Given the description of an element on the screen output the (x, y) to click on. 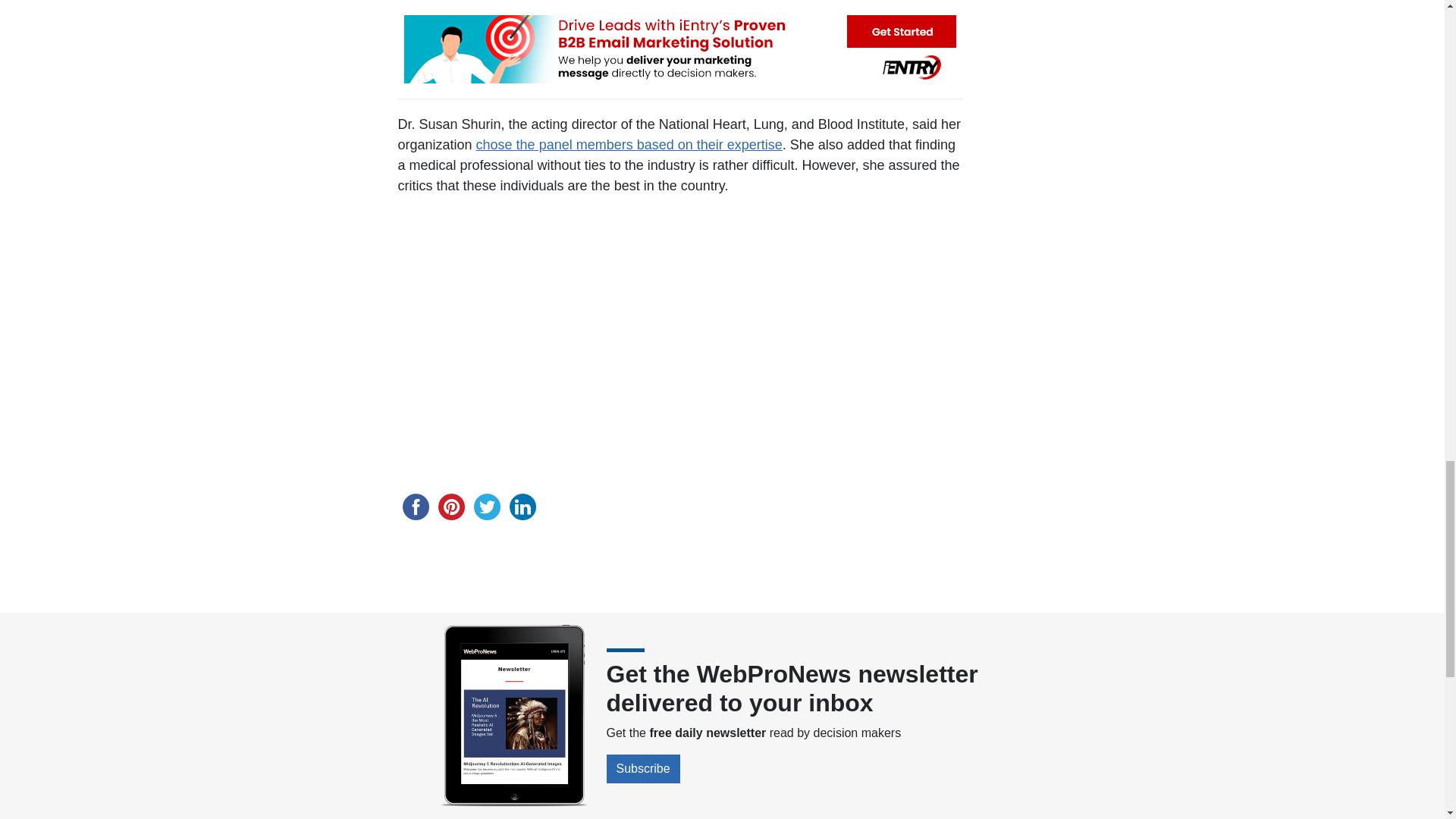
twitter (485, 506)
pinterest (450, 506)
facebook (414, 506)
